Given the description of an element on the screen output the (x, y) to click on. 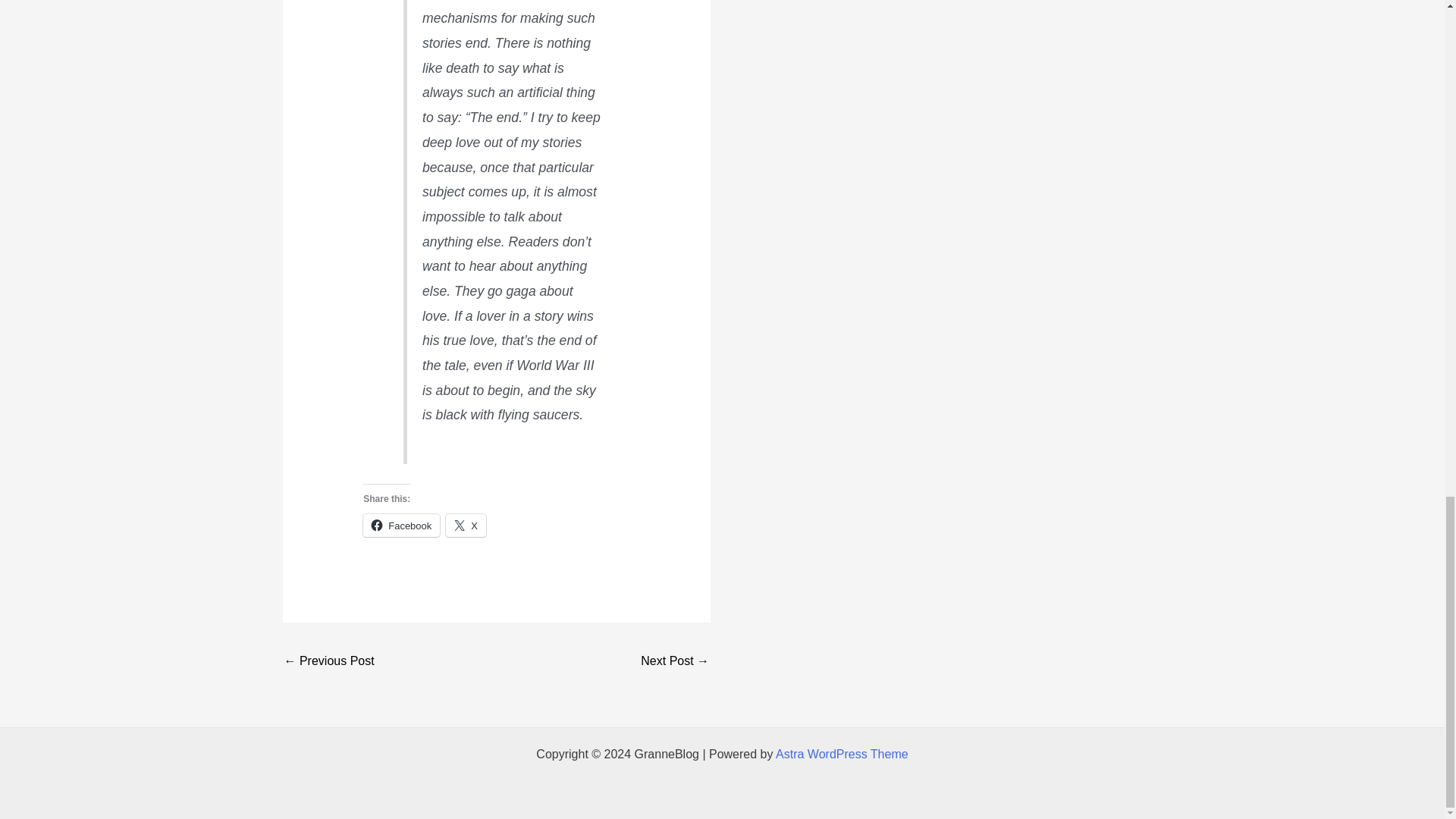
Kurt Vonnegut on using our talents (328, 662)
Click to share on X (465, 525)
Astra WordPress Theme (842, 753)
Facebook (400, 525)
X (465, 525)
Kurt Vonnegut on the basic plots available to writers (674, 662)
Click to share on Facebook (400, 525)
